Given the description of an element on the screen output the (x, y) to click on. 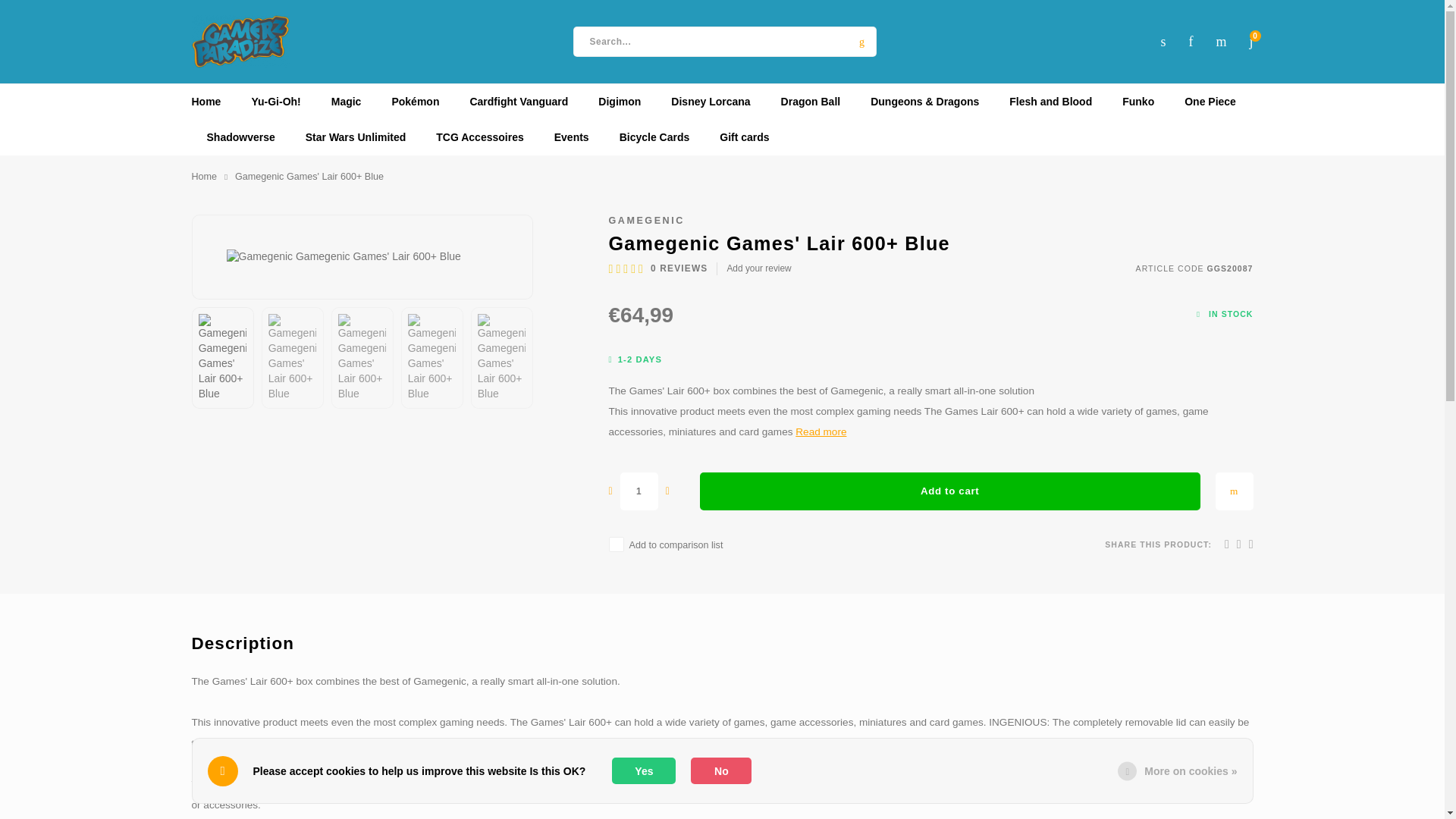
Search (860, 41)
1 (639, 491)
Gift cards (744, 137)
Home (203, 177)
